Given the description of an element on the screen output the (x, y) to click on. 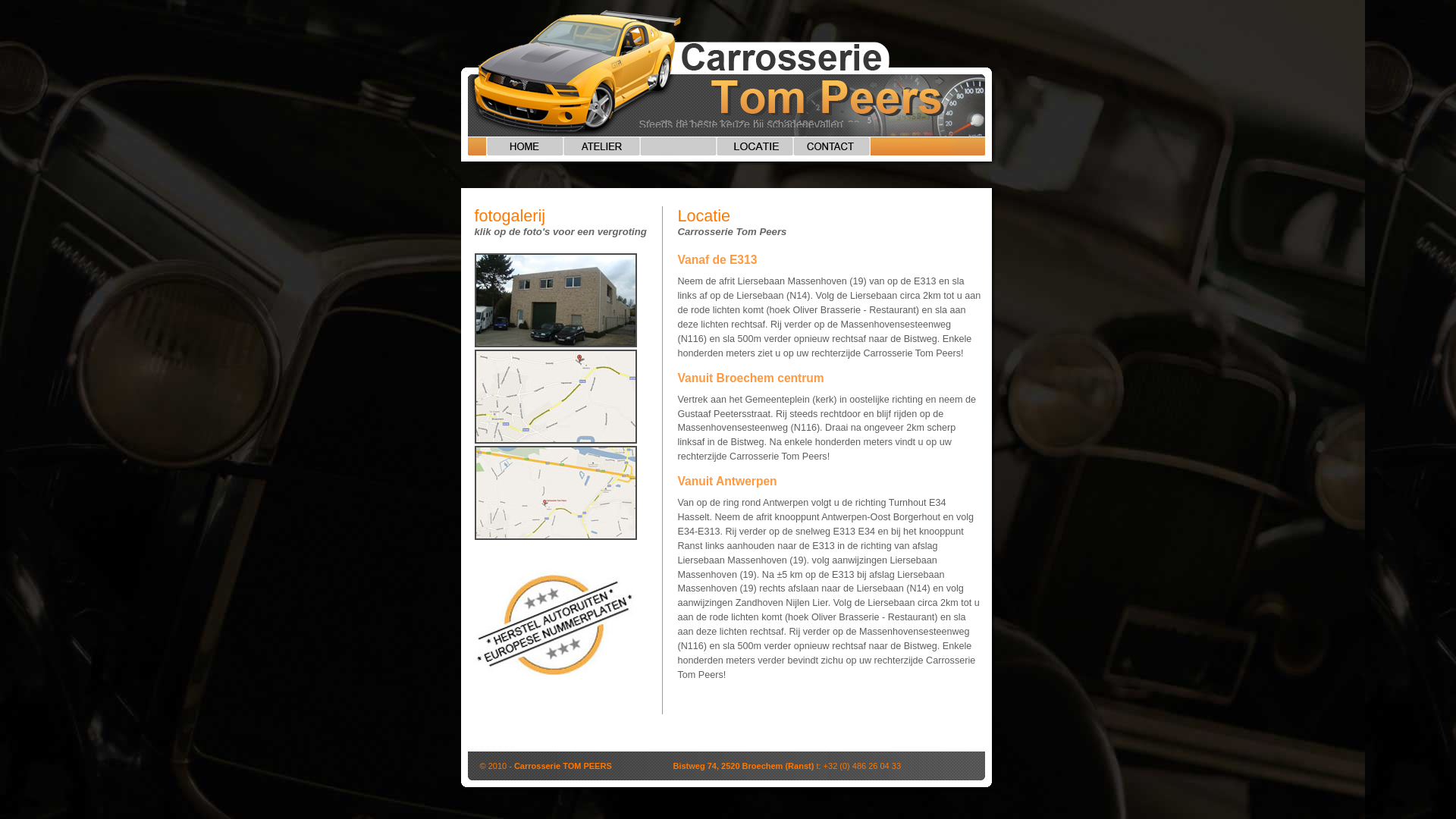
Vanaf de E313 Element type: hover (555, 536)
Tom Peers Carrosserie Element type: hover (555, 343)
vanuit Broechem centrum Element type: hover (555, 440)
